Given the description of an element on the screen output the (x, y) to click on. 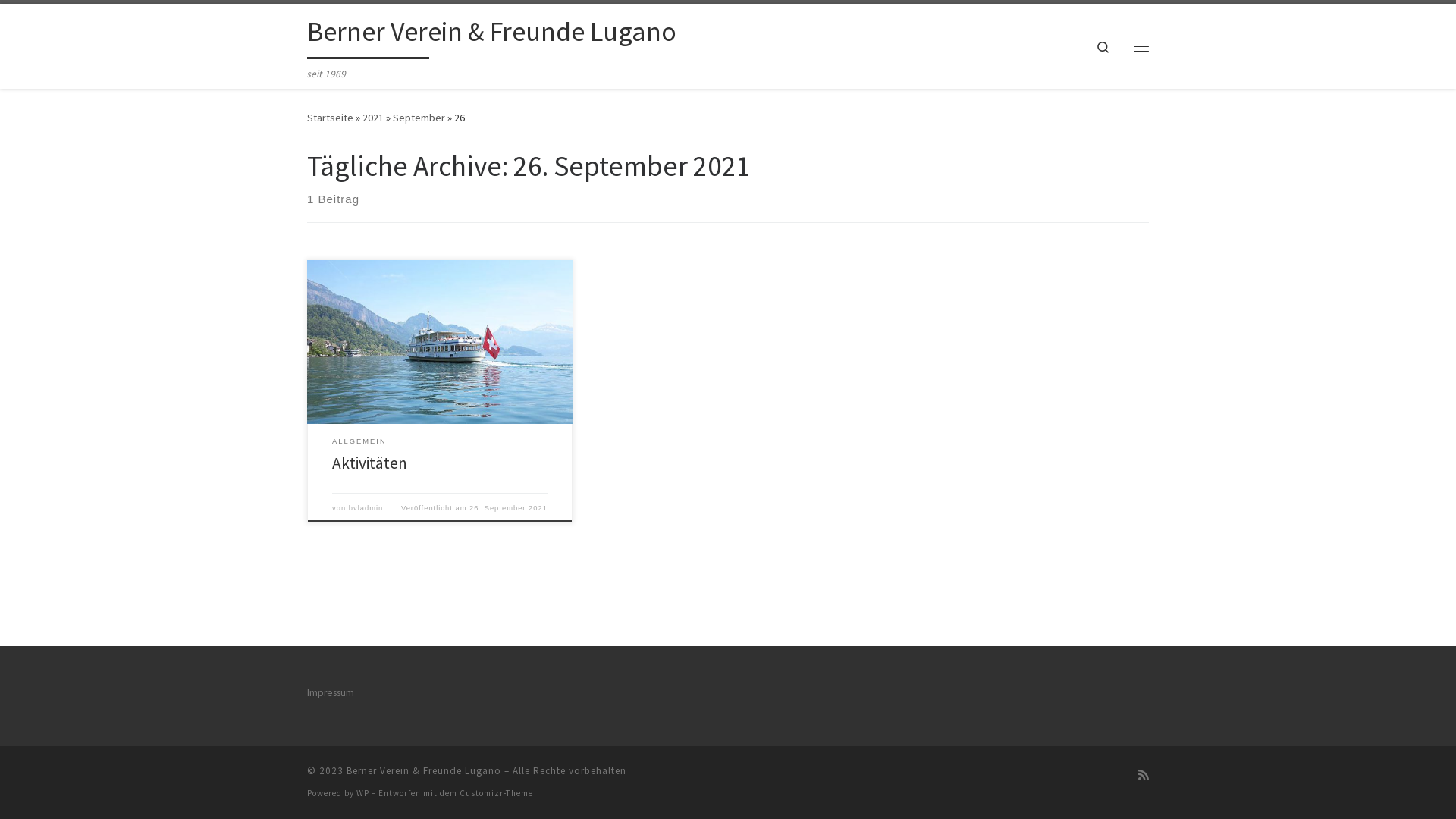
Berner Verein & Freunde Lugano Element type: text (491, 35)
bvladmin Element type: text (365, 507)
RSS-Feed abonnieren Element type: hover (1143, 774)
September Element type: text (418, 117)
2021 Element type: text (372, 117)
Berner Verein & Freunde Lugano Element type: text (423, 770)
ALLGEMEIN Element type: text (359, 441)
Startseite Element type: text (330, 117)
26. September 2021 Element type: text (508, 507)
Search Element type: text (1102, 45)
Customizr-Theme Element type: text (496, 792)
Impressum Element type: text (330, 693)
WP Element type: text (362, 792)
Zum Inhalt springen Element type: text (67, 21)
